Given the description of an element on the screen output the (x, y) to click on. 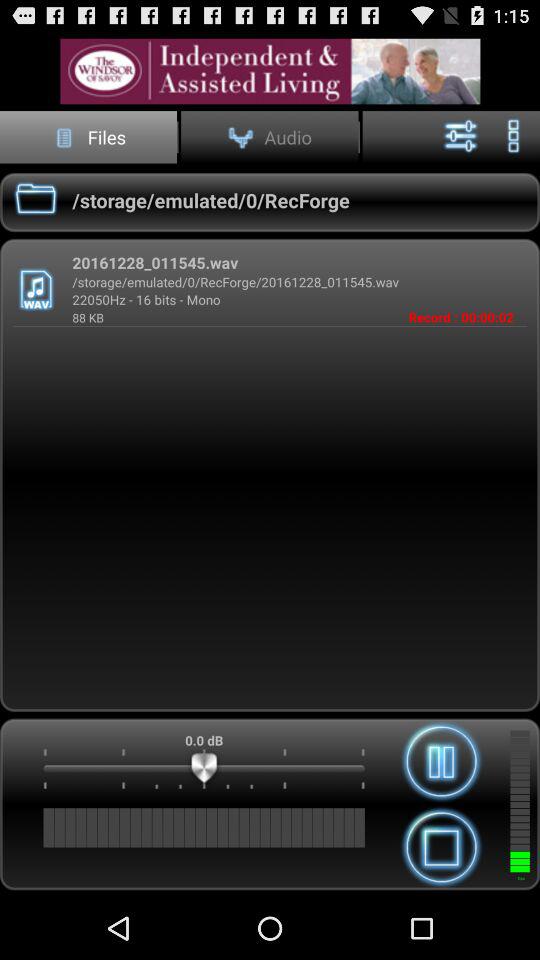
open advertisement (270, 70)
